Given the description of an element on the screen output the (x, y) to click on. 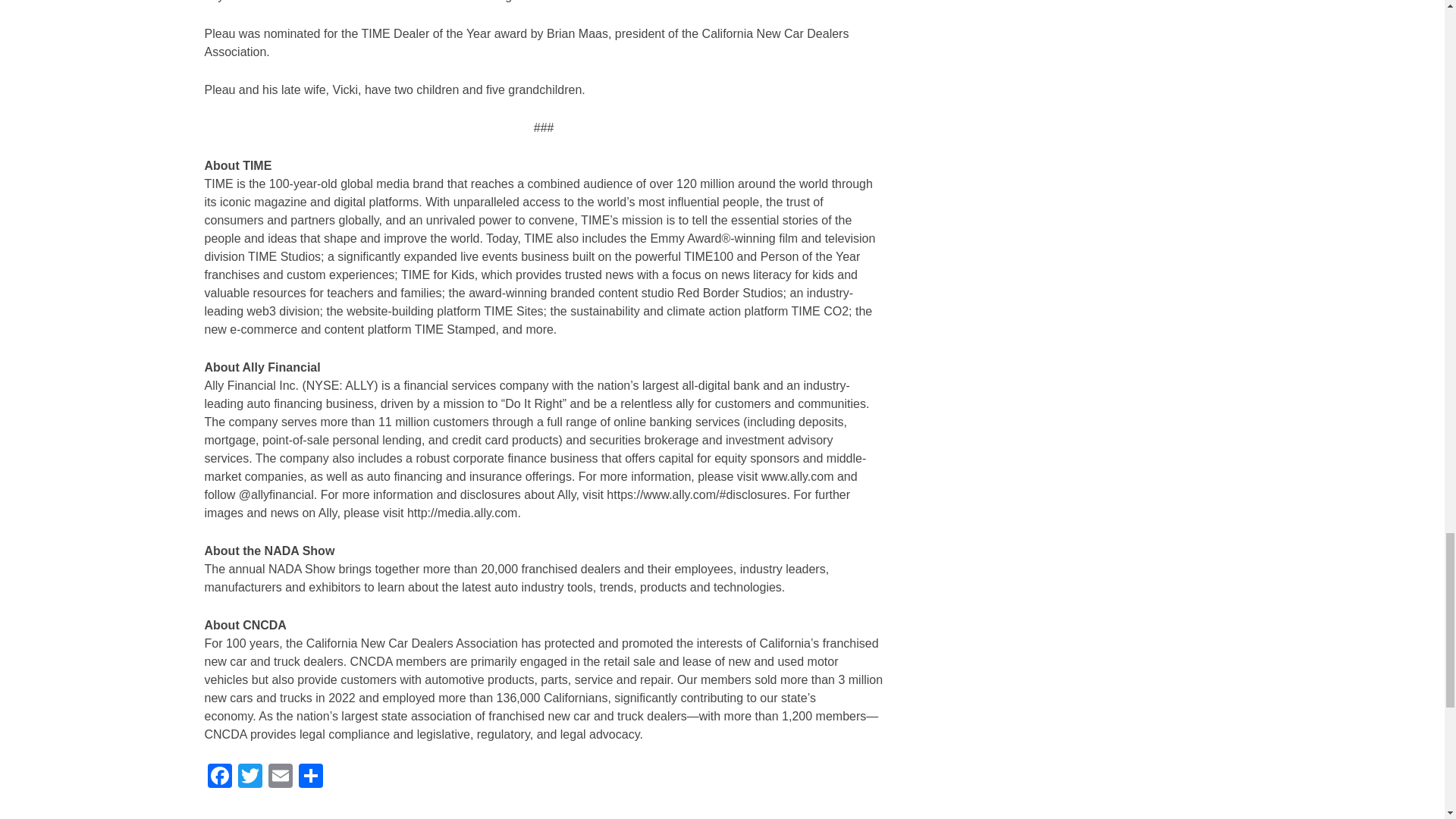
Facebook (219, 777)
Share (310, 777)
Email (279, 777)
Twitter (249, 777)
Facebook (219, 777)
Twitter (249, 777)
Email (279, 777)
